Given the description of an element on the screen output the (x, y) to click on. 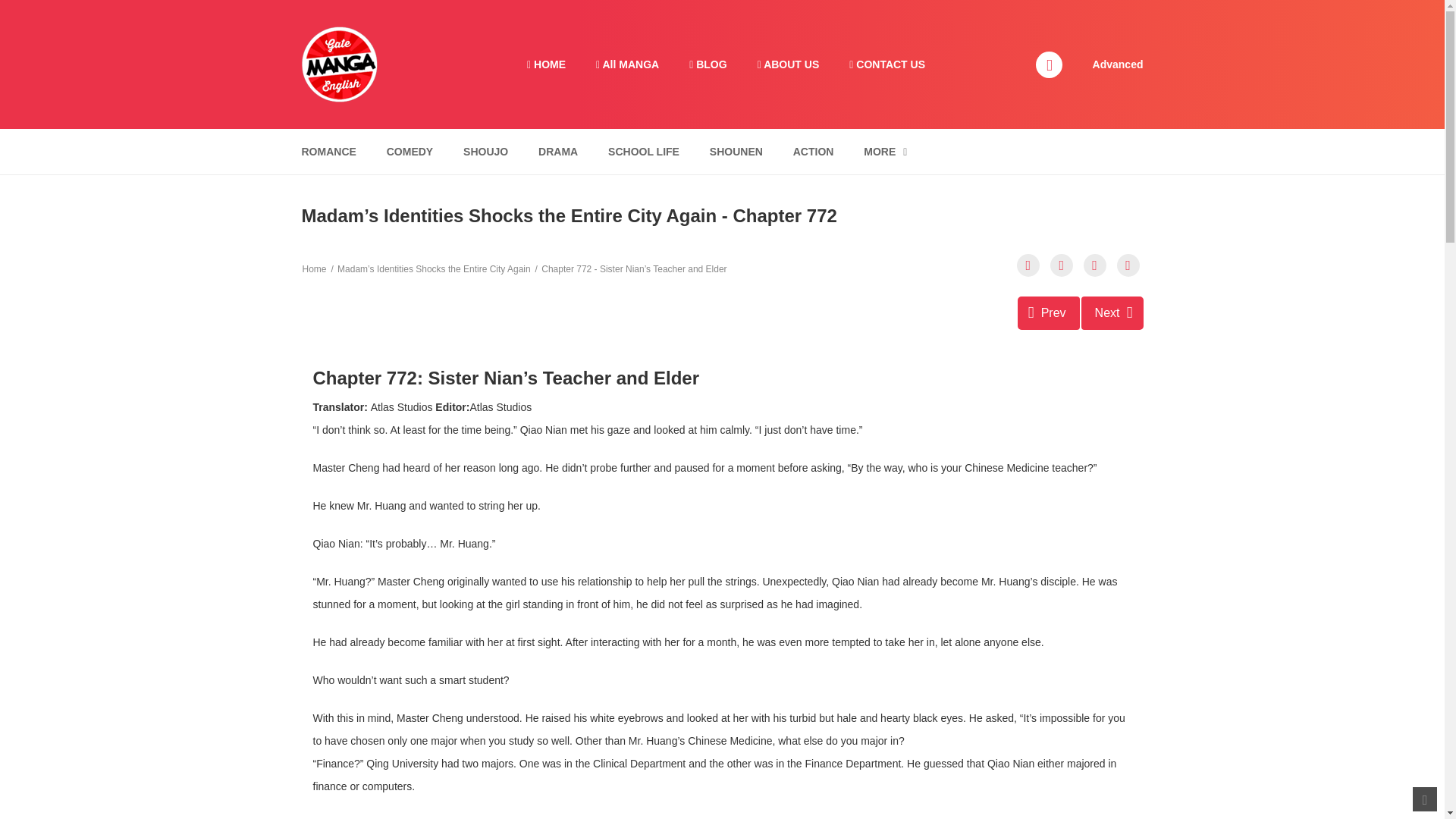
Chapter 773 (1111, 313)
SHOUNEN (736, 151)
HOME (546, 64)
Chapter 771 (1048, 313)
ROMANCE (328, 151)
All MANGA (627, 64)
MORE (885, 151)
Bookmark (1094, 264)
ACTION (813, 151)
ABOUT US (788, 64)
